Given the description of an element on the screen output the (x, y) to click on. 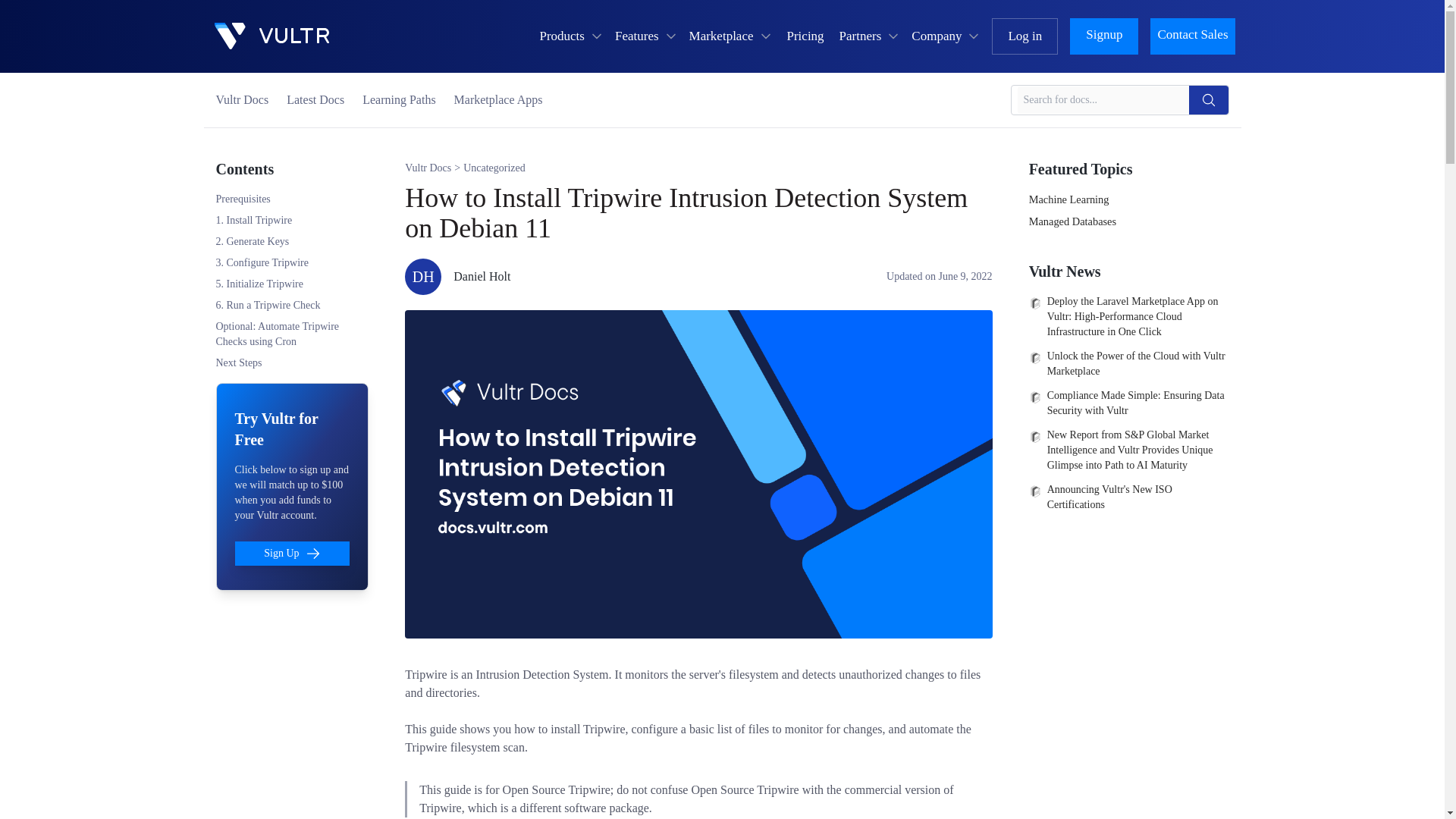
Daniel Holt (481, 276)
3. Configure Tripwire (261, 262)
Learning Paths (398, 99)
2. Generate Keys (251, 241)
Managed Databases (1128, 221)
1. Install Tripwire (253, 220)
Machine Learning (1128, 199)
Pricing (805, 35)
Signup (1104, 36)
Vultr Docs (241, 99)
6. Run a Tripwire Check (267, 305)
Unlock the Power of the Cloud with Vultr Marketplace (1128, 363)
Log in (1024, 36)
Announcing Vultr's New ISO Certifications (1128, 497)
Next Steps (238, 362)
